Given the description of an element on the screen output the (x, y) to click on. 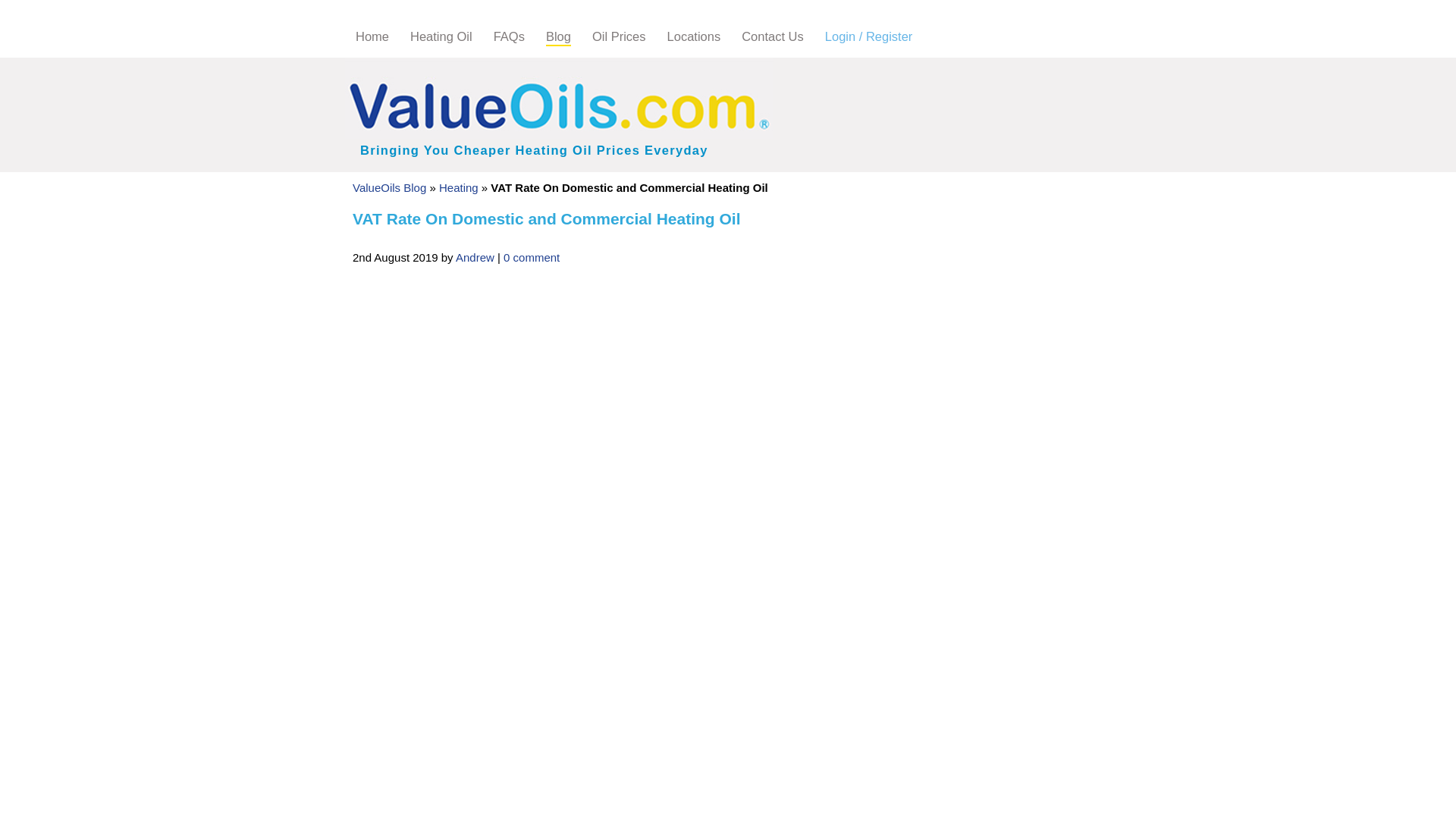
0 comment (531, 256)
Home (371, 36)
Oil Prices (619, 36)
Contact Us (772, 36)
View all posts by Andrew Higgins (475, 256)
Blog (558, 36)
Heating (459, 187)
Heating Oil (440, 36)
FAQs (508, 36)
Locations (693, 36)
ValueOils Blog (389, 187)
Andrew (475, 256)
